Given the description of an element on the screen output the (x, y) to click on. 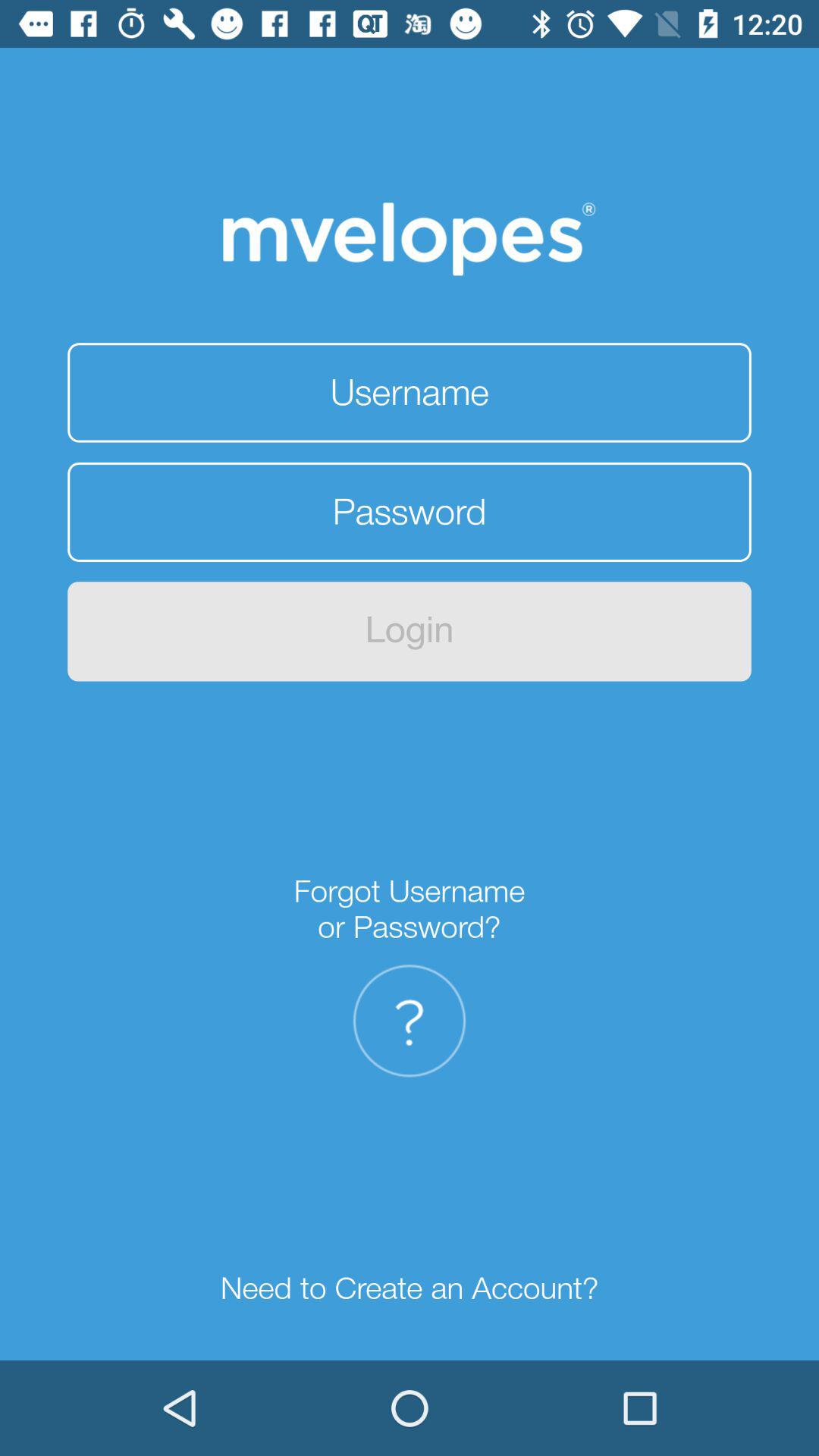
turn on the need to create (409, 1288)
